Given the description of an element on the screen output the (x, y) to click on. 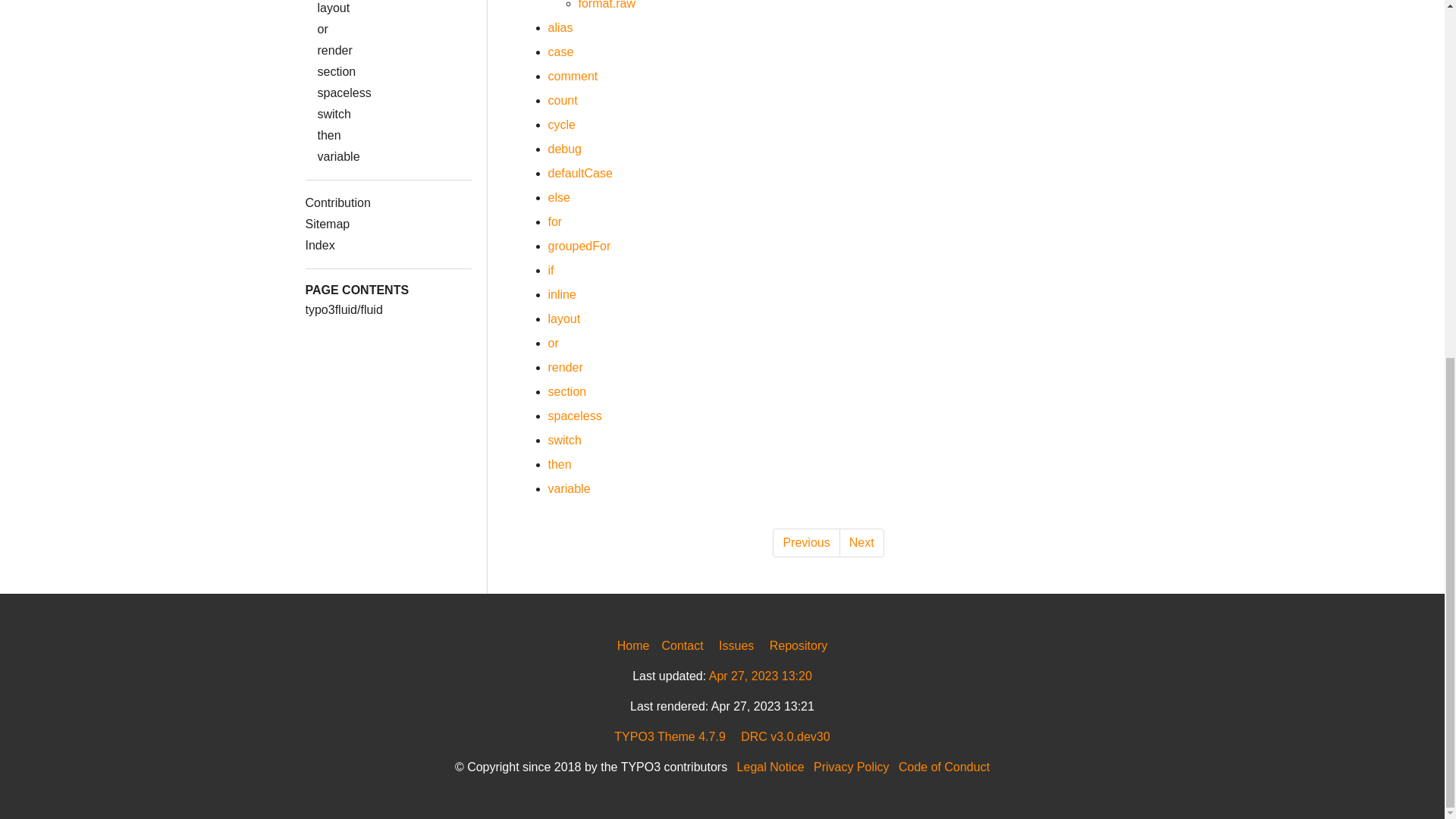
Last commit (760, 675)
Home (633, 645)
Repository (798, 645)
Issues (736, 645)
Contact (682, 645)
Docker Rendering Container (785, 736)
